Given the description of an element on the screen output the (x, y) to click on. 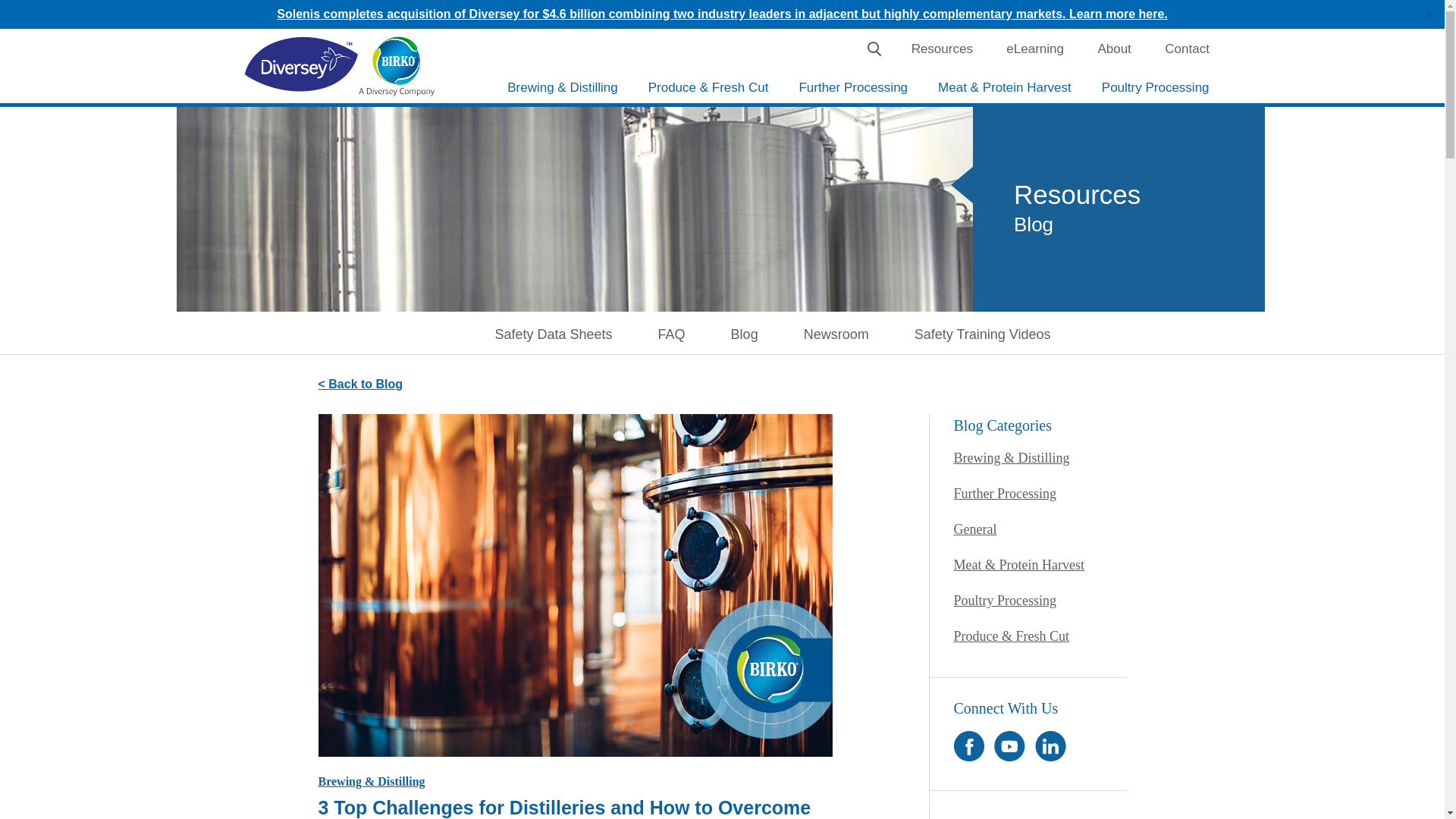
home (395, 66)
Resources (941, 47)
linkedin (1050, 746)
Diversey (301, 65)
Search (873, 48)
eLearning (1035, 47)
youtube (1009, 746)
facebook (968, 746)
